Given the description of an element on the screen output the (x, y) to click on. 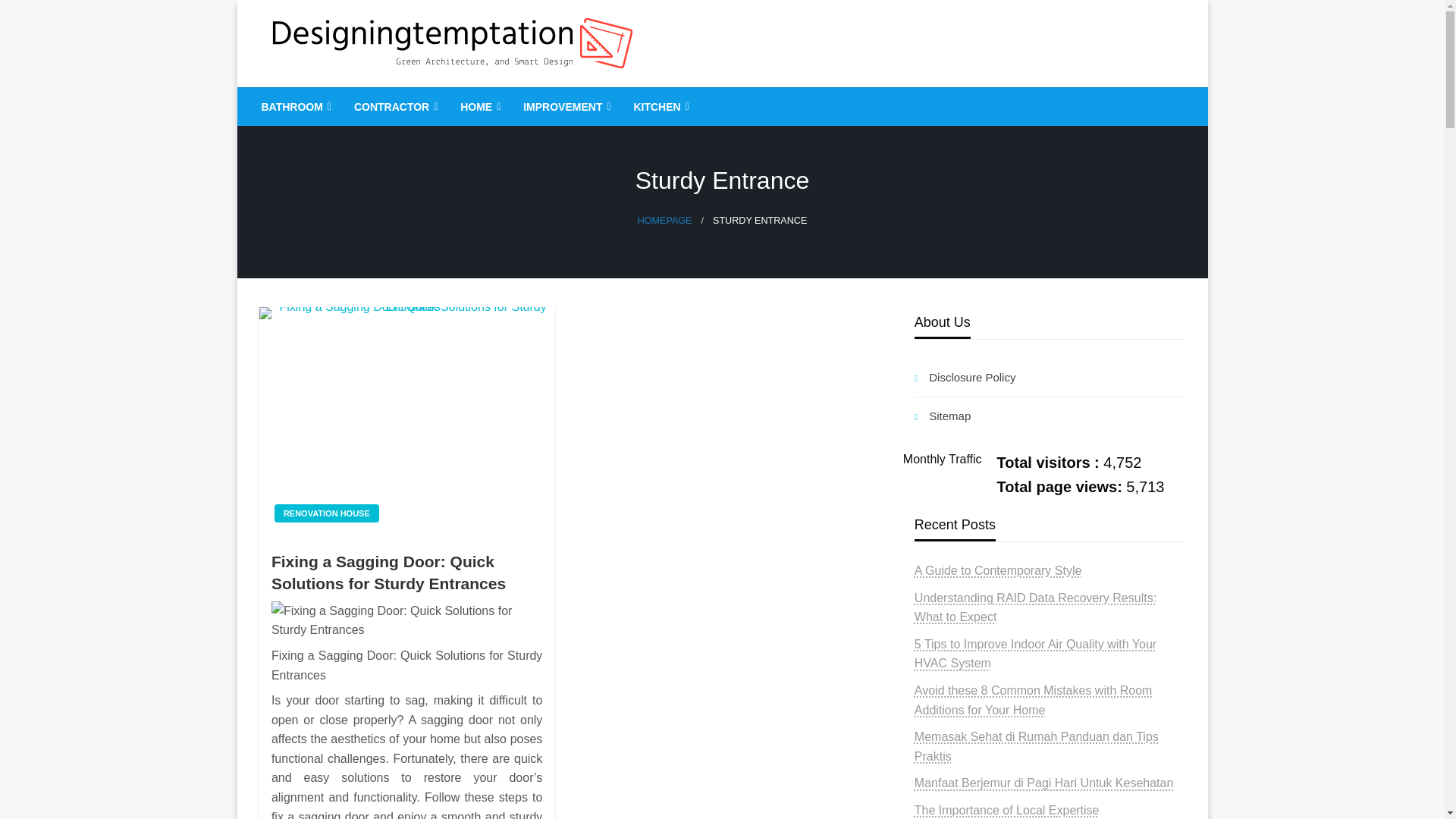
Disclosure Policy (1049, 377)
Designingtemptation (401, 99)
BATHROOM (294, 106)
RENOVATION HOUSE (326, 513)
Homepage (665, 220)
Sitemap (1049, 415)
Fixing a Sagging Door: Quick Solutions for Sturdy Entrances (405, 572)
CONTRACTOR (393, 106)
KITCHEN (659, 106)
